Given the description of an element on the screen output the (x, y) to click on. 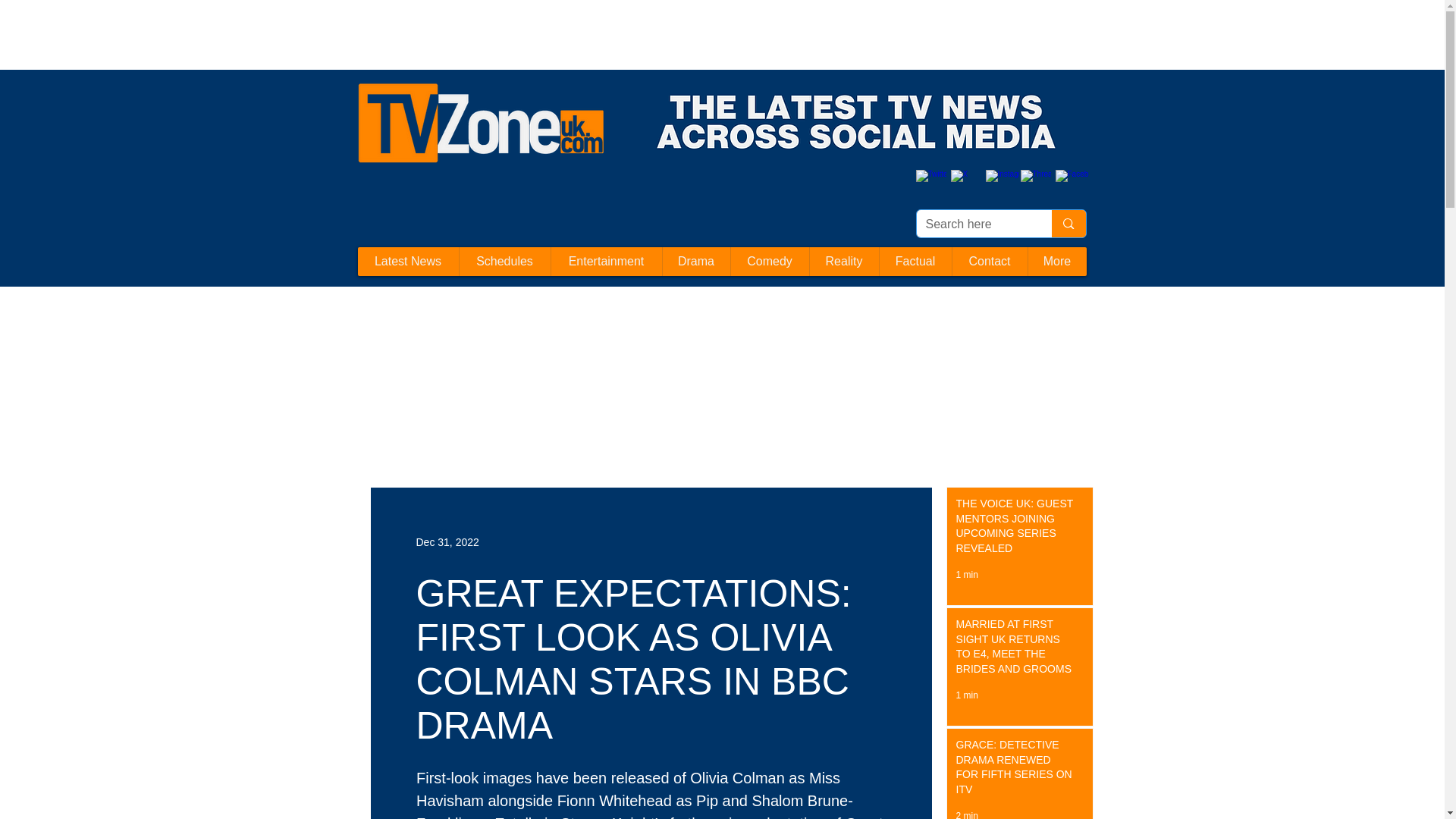
Dec 31, 2022 (446, 541)
1 min (965, 695)
GRACE: DETECTIVE DRAMA RENEWED FOR FIFTH SERIES ON ITV (1014, 770)
2 min (965, 814)
Reality (842, 261)
Contact (988, 261)
Latest News (408, 261)
Entertainment (606, 261)
1 min (965, 574)
